Given the description of an element on the screen output the (x, y) to click on. 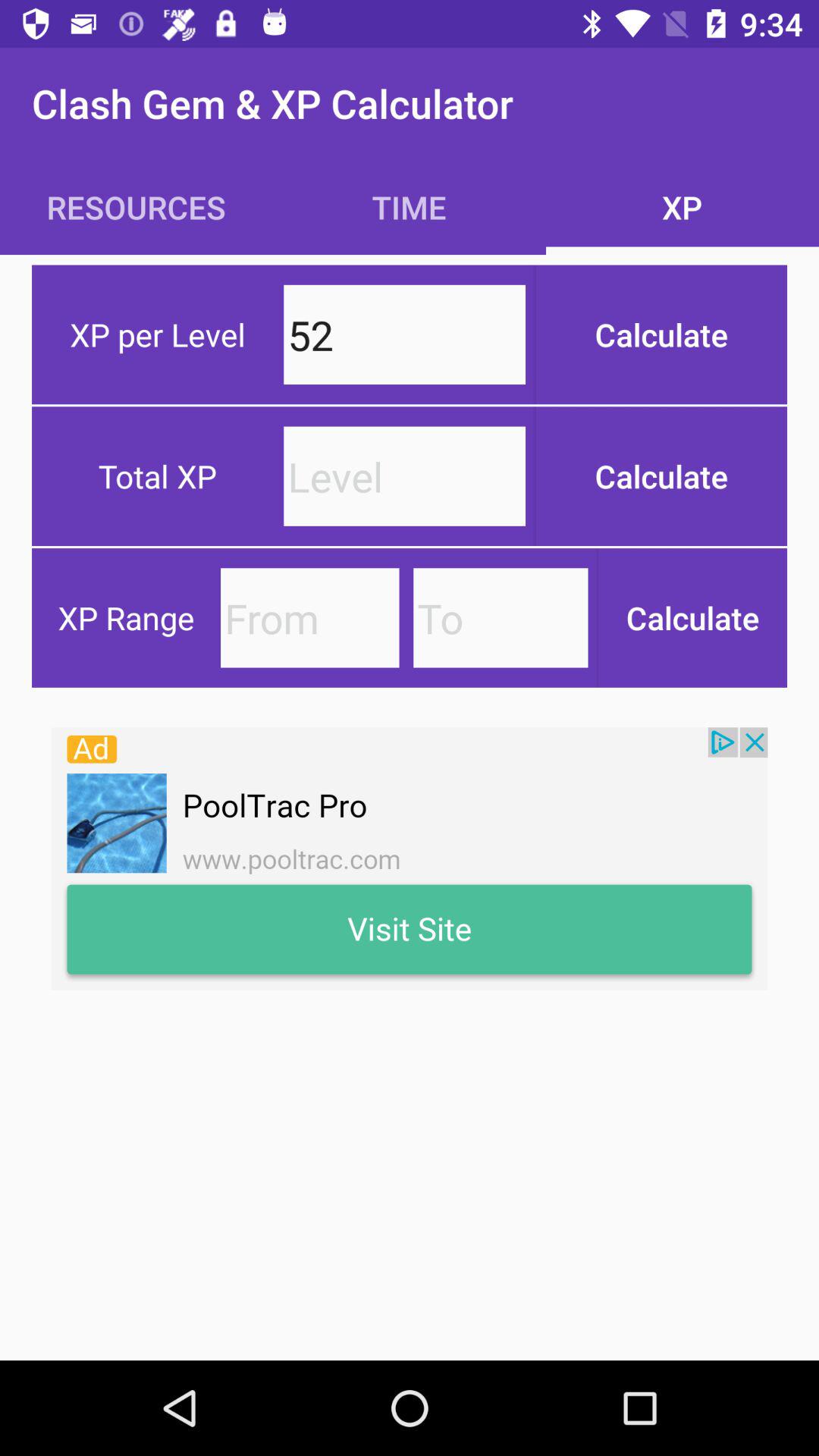
enter xp range to (500, 617)
